Given the description of an element on the screen output the (x, y) to click on. 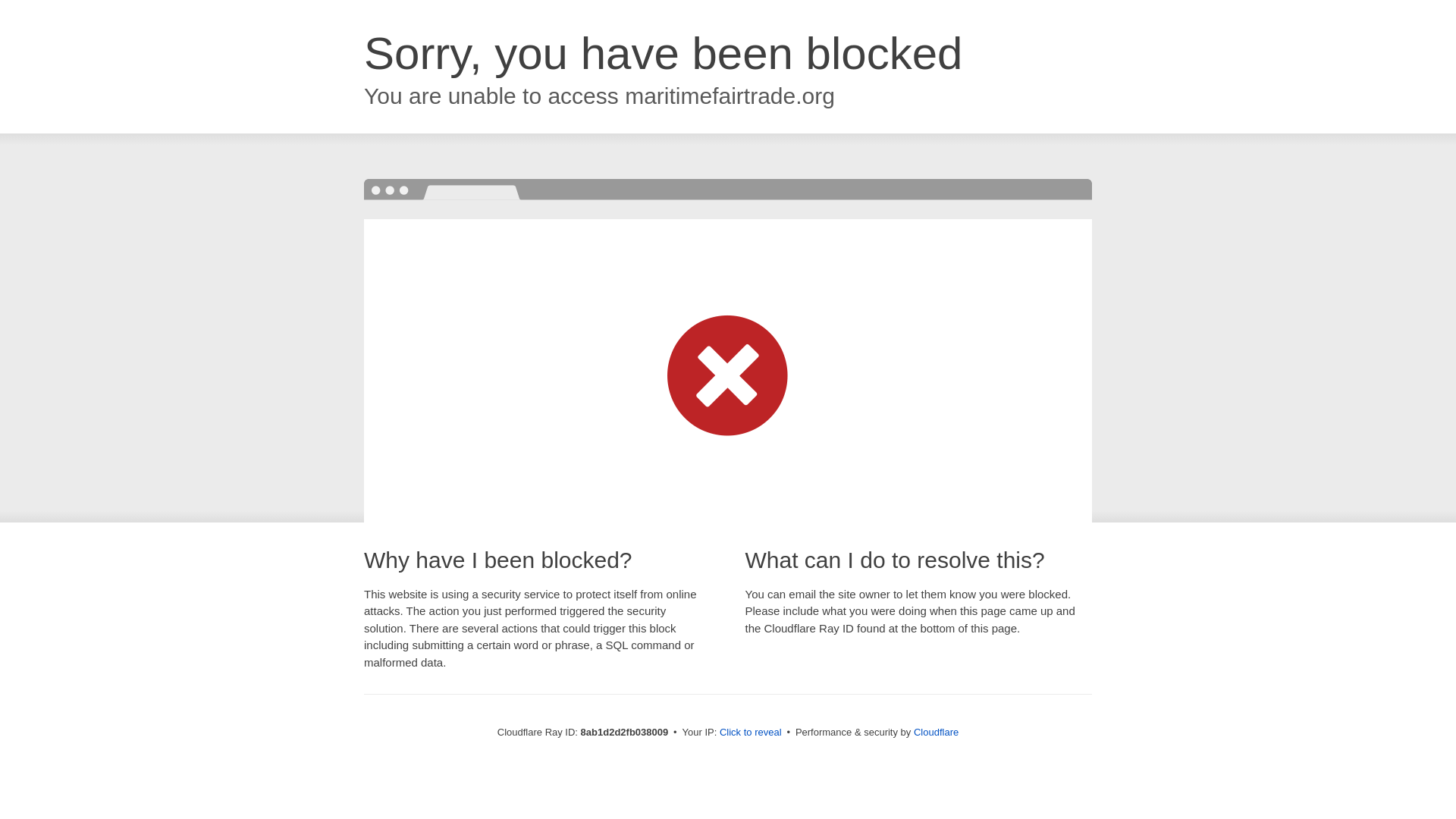
Cloudflare (936, 731)
Click to reveal (750, 732)
